Given the description of an element on the screen output the (x, y) to click on. 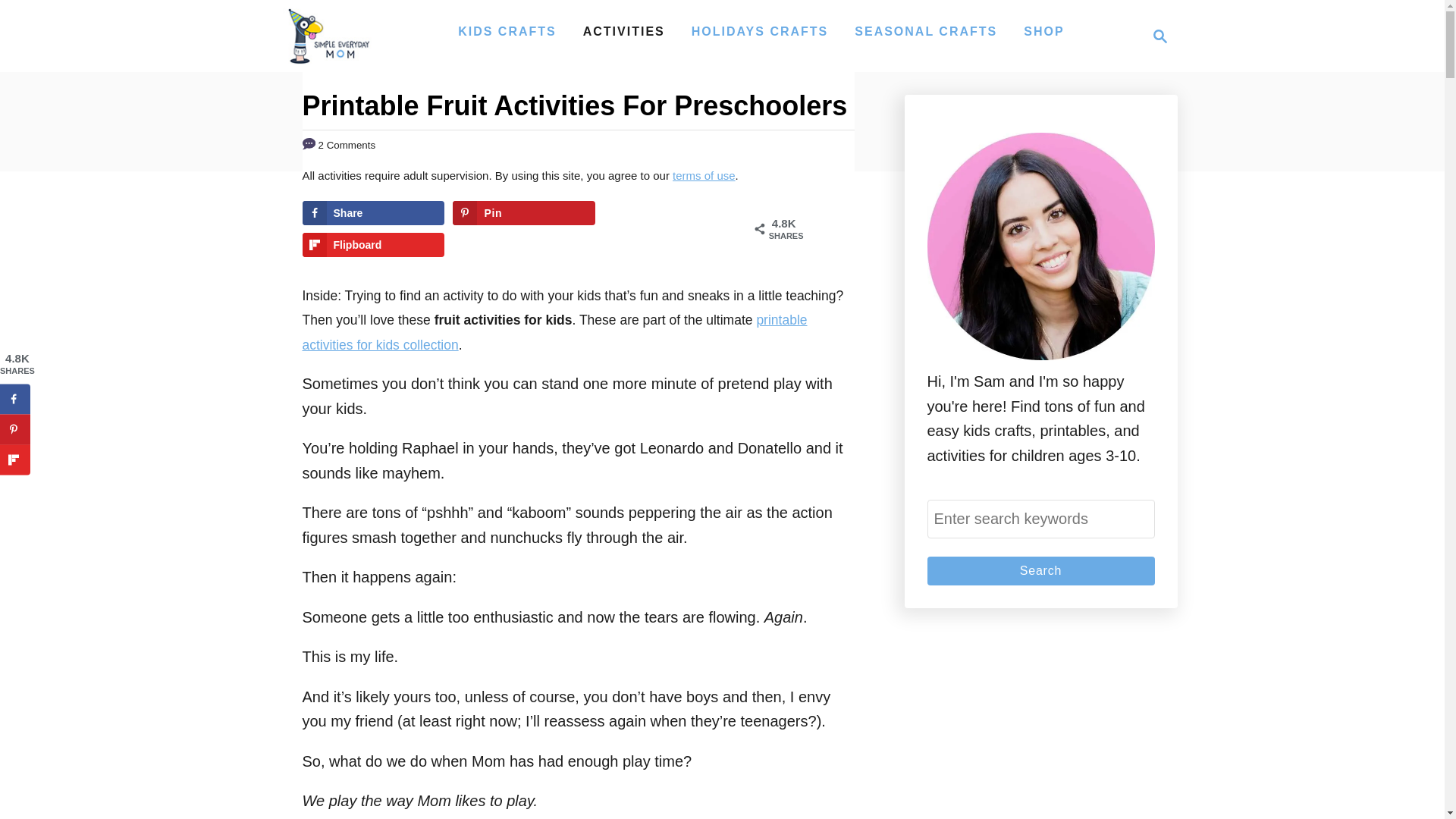
Search (1040, 570)
Save to Pinterest (523, 212)
Share on Facebook (372, 212)
HOLIDAYS CRAFTS (759, 31)
Search (1155, 36)
ACTIVITIES (1040, 570)
Magnifying Glass (623, 31)
Search for: (1160, 36)
KIDS CRAFTS (1040, 518)
Simple Everyday Mom (506, 31)
Skip to Content (328, 35)
